Given the description of an element on the screen output the (x, y) to click on. 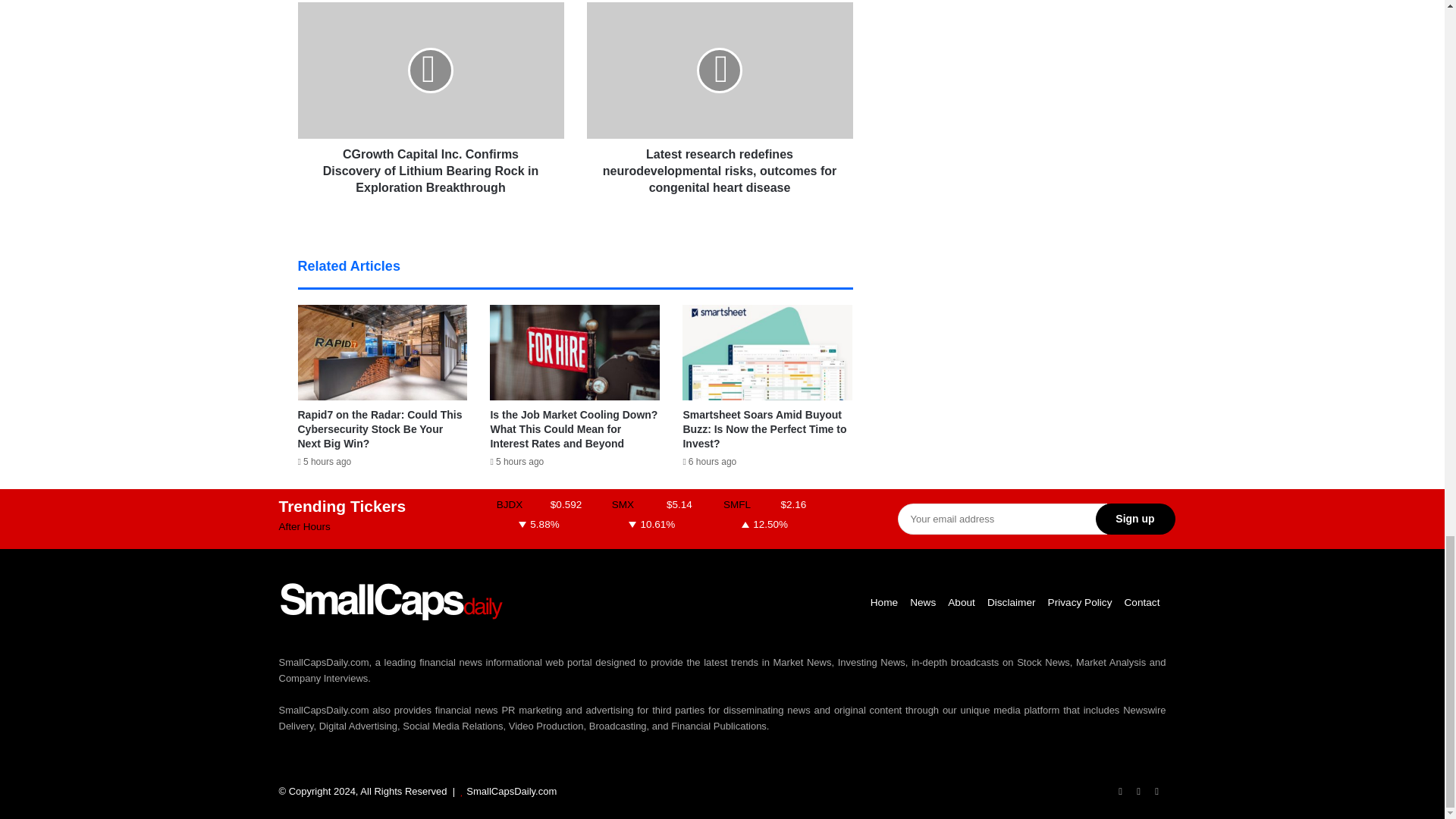
Sign up (1134, 518)
